Given the description of an element on the screen output the (x, y) to click on. 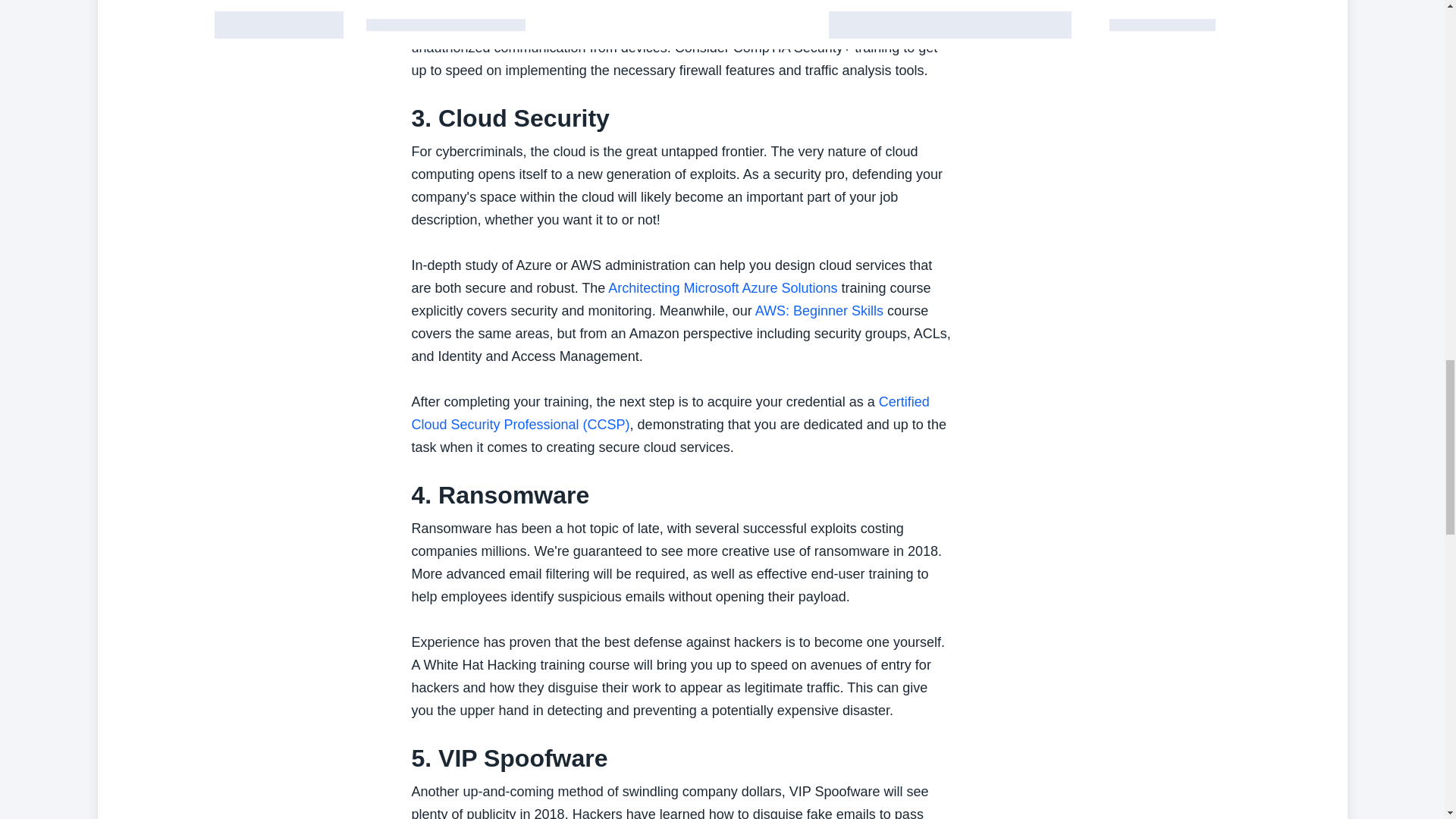
Architecting Microsoft Azure Solutions (722, 287)
AWS: Beginner Skills (819, 310)
